Given the description of an element on the screen output the (x, y) to click on. 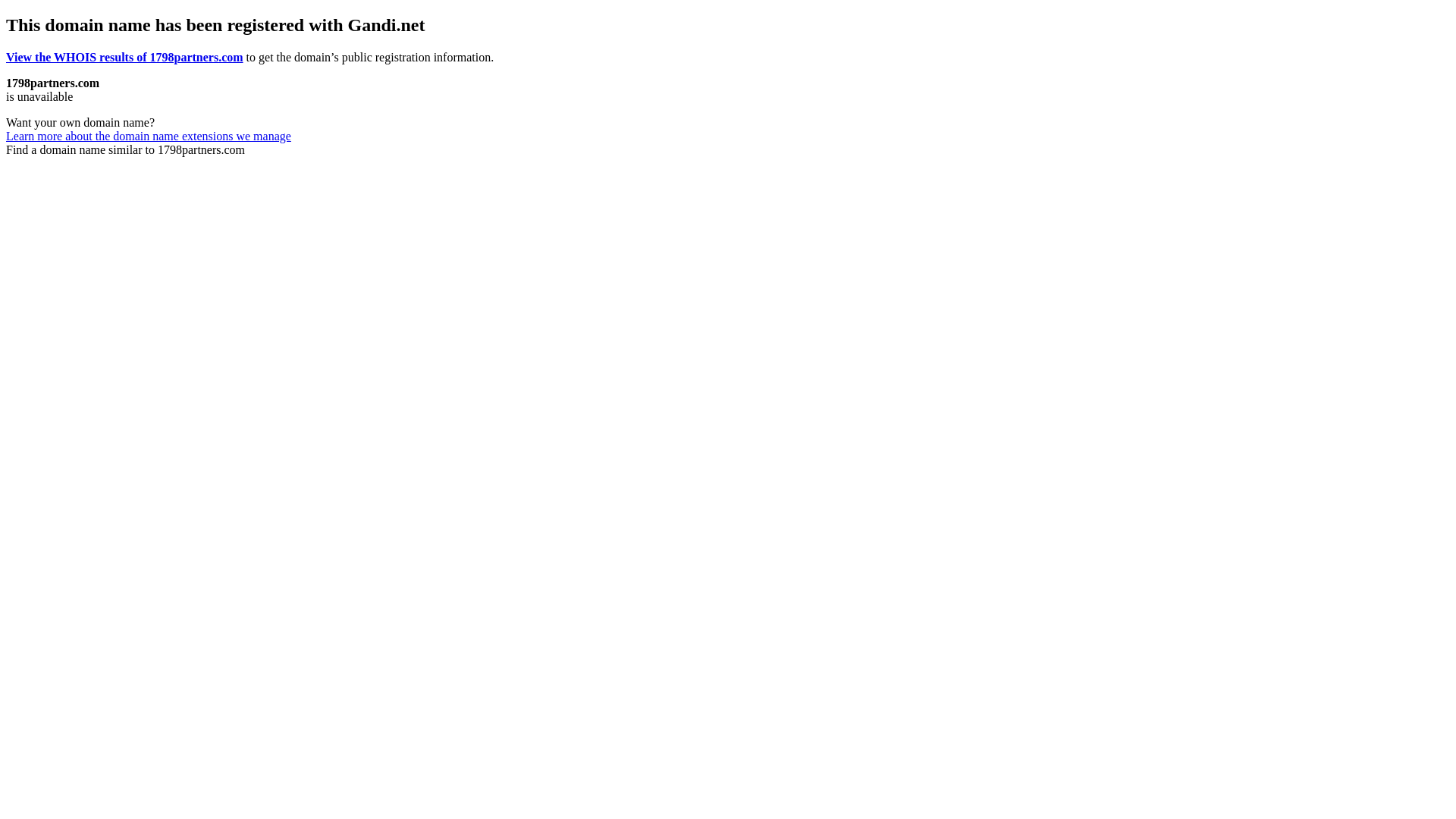
Learn more about the domain name extensions we manage Element type: text (148, 135)
View the WHOIS results of 1798partners.com Element type: text (124, 56)
Find a domain name similar to 1798partners.com Element type: text (125, 149)
